Given the description of an element on the screen output the (x, y) to click on. 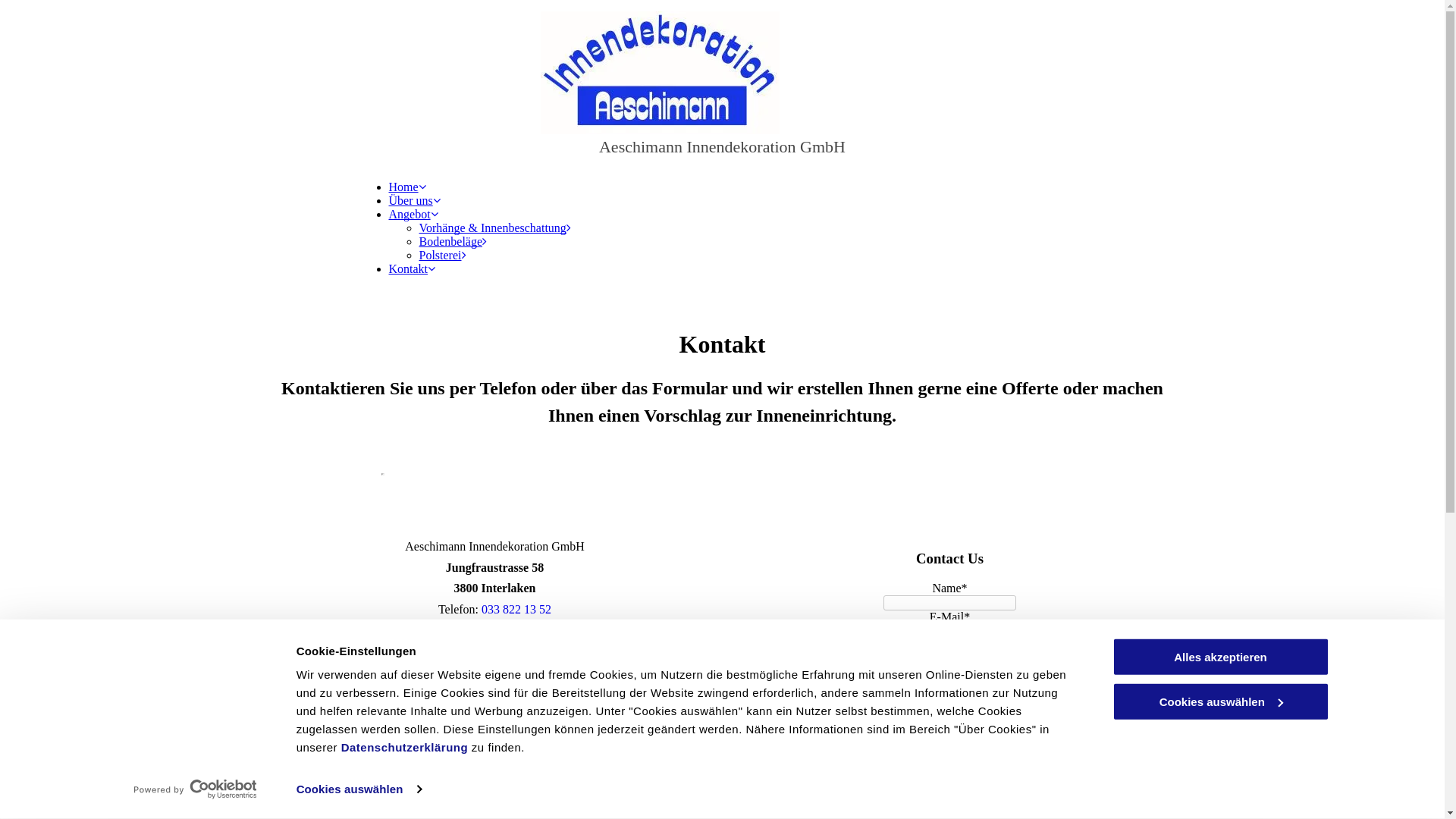
033 822 13 52 Element type: text (516, 608)
Kontakt Element type: text (411, 268)
Aeschimann Innendekoration GmbH Element type: text (722, 146)
Home Element type: text (406, 186)
Senden Element type: text (766, 783)
aeschimanngmbh@bluewin.ch Element type: text (514, 655)
079 339 06 66 Element type: text (512, 631)
Angebot Element type: text (412, 213)
Alles akzeptieren Element type: text (1219, 656)
Polsterei Element type: text (441, 254)
